Given the description of an element on the screen output the (x, y) to click on. 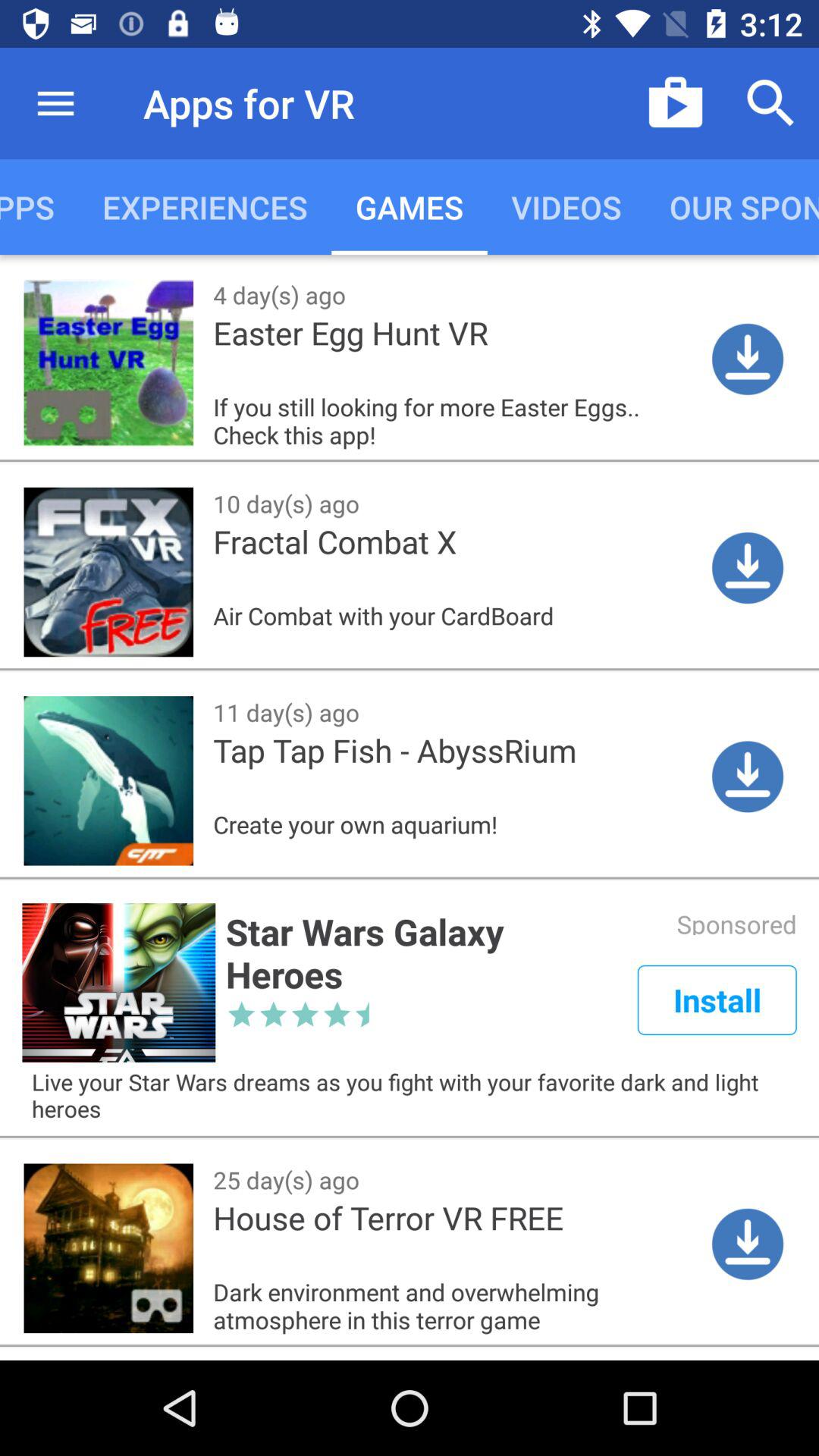
open icon to the right of star wars galaxy app (716, 1000)
